Given the description of an element on the screen output the (x, y) to click on. 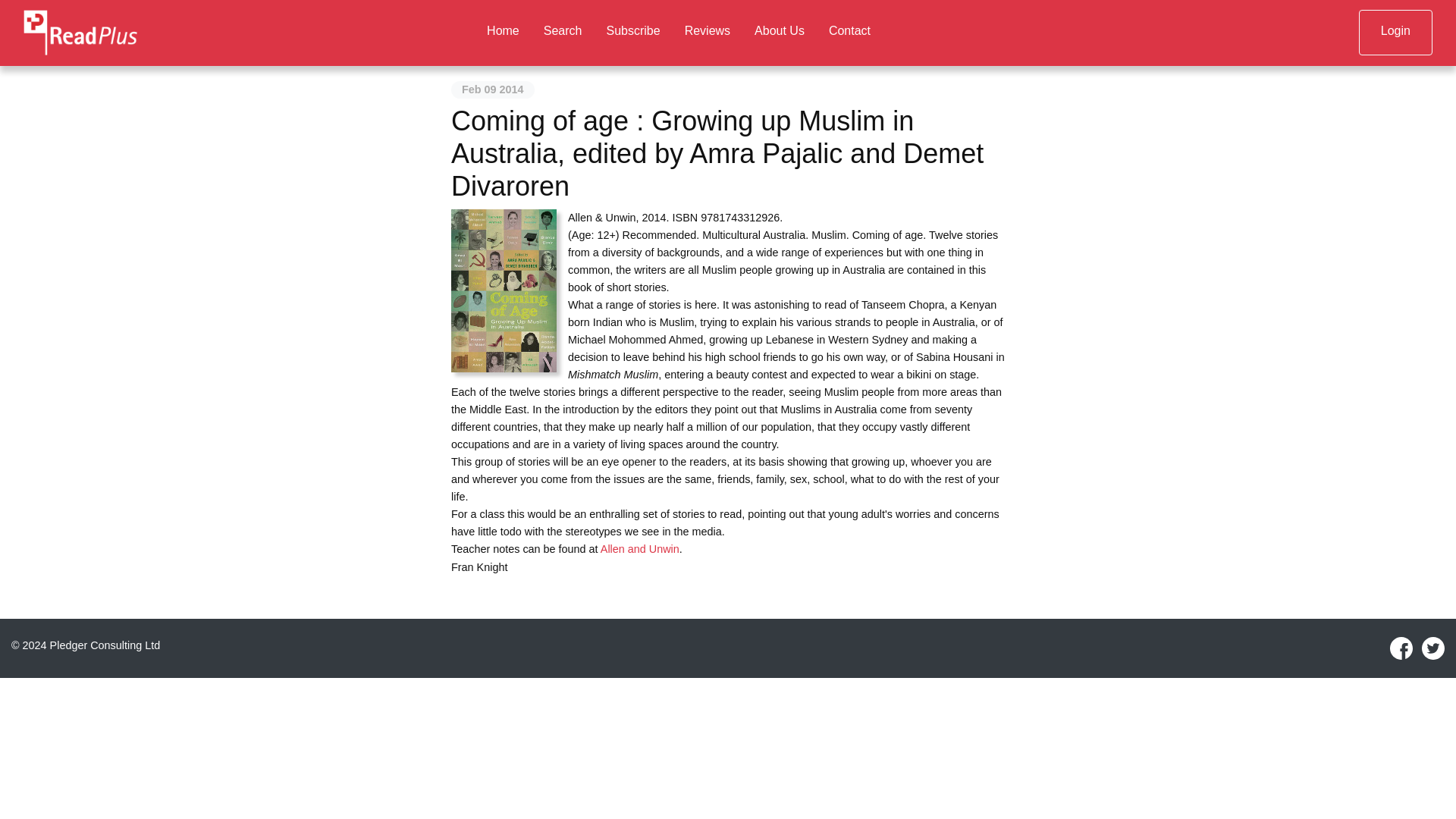
Search (562, 32)
About Us (779, 32)
2024 Pledger Consulting Ltd (91, 645)
Home (502, 32)
Allen and Unwin (639, 548)
Subscribe (632, 32)
Reviews (707, 32)
Contact (849, 32)
Login (1395, 32)
